Given the description of an element on the screen output the (x, y) to click on. 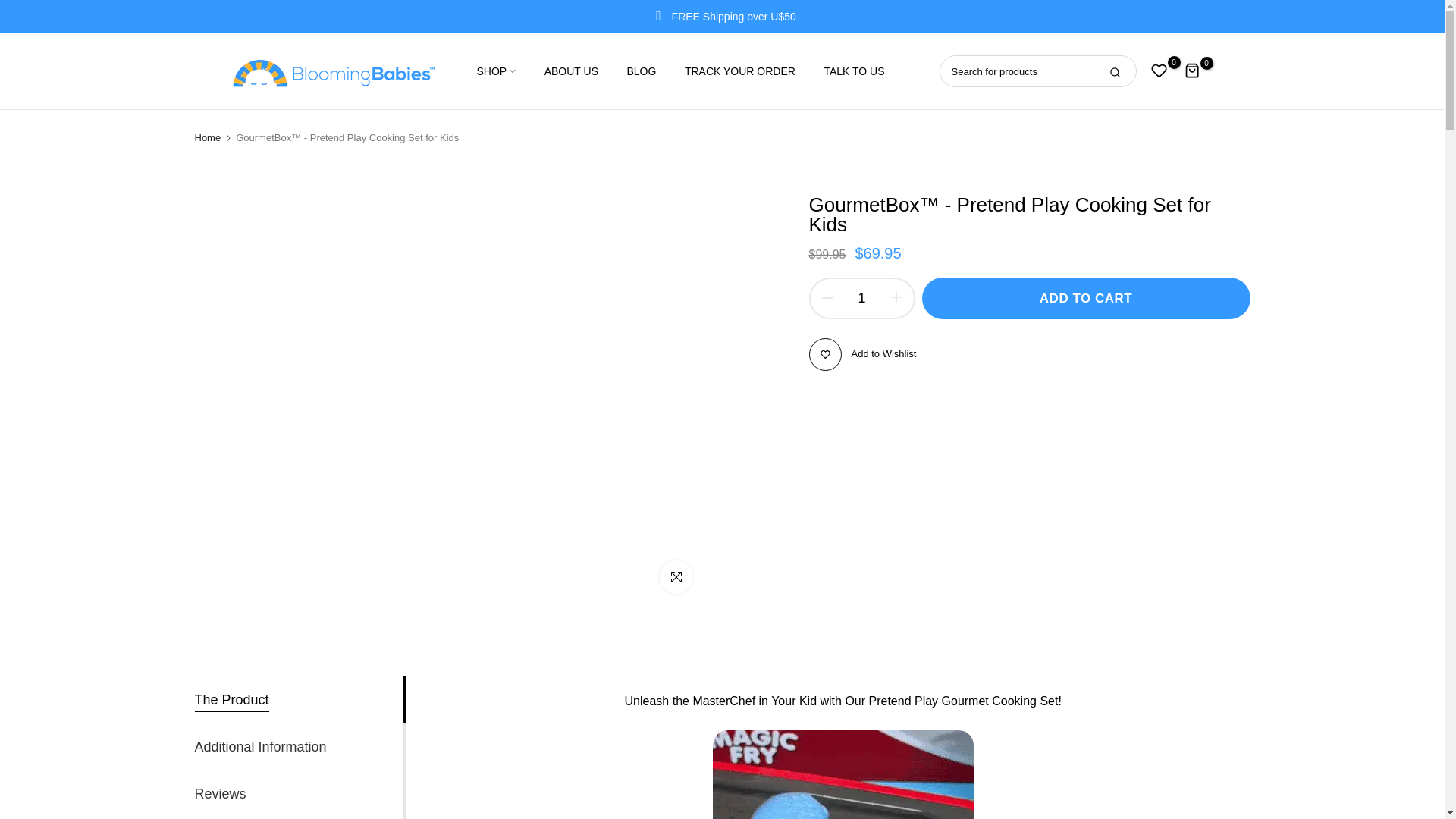
Skip to content (10, 7)
SHOP (502, 71)
Add to Wishlist (861, 354)
ADD TO CART (1085, 298)
1 (861, 298)
TRACK YOUR ORDER (739, 71)
Home (207, 137)
0 (1193, 71)
0 (1159, 71)
Reviews (219, 793)
Additional Information (259, 746)
TALK TO US (847, 71)
The Product (230, 699)
ABOUT US (570, 71)
BLOG (640, 71)
